Given the description of an element on the screen output the (x, y) to click on. 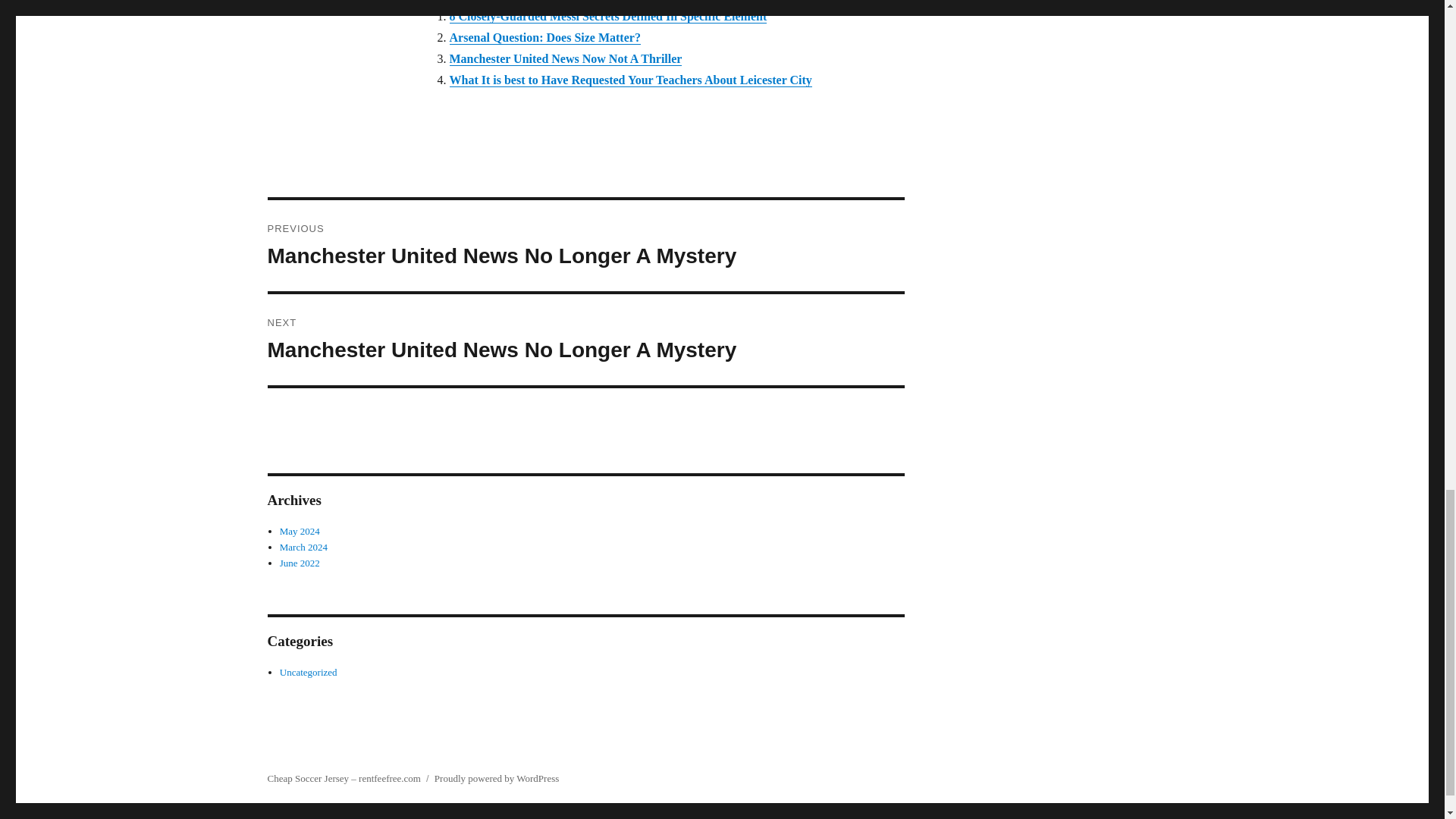
Arsenal Question: Does Size Matter? (544, 37)
May 2024 (299, 531)
Manchester United News Now Not A Thriller (564, 58)
8 Closely-Guarded Messi Secrets Defined In Specific Element (607, 15)
March 2024 (303, 546)
Uncategorized (585, 339)
